Given the description of an element on the screen output the (x, y) to click on. 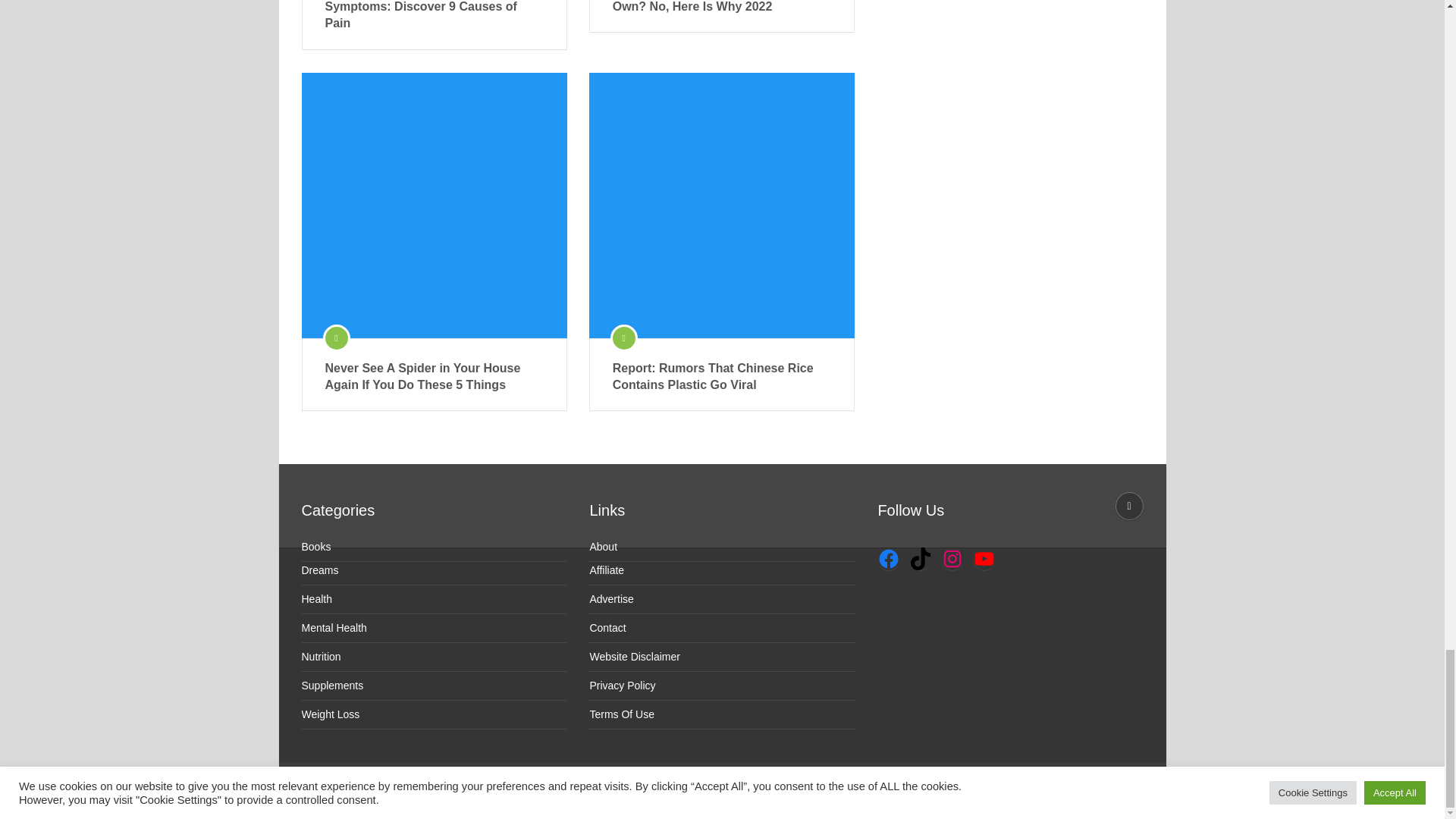
Report: Rumors That Chinese Rice Contains Plastic Go Viral (721, 376)
Do Stress Fractures Heal On Their Own? No, Here Is Why 2022 (721, 7)
